Given the description of an element on the screen output the (x, y) to click on. 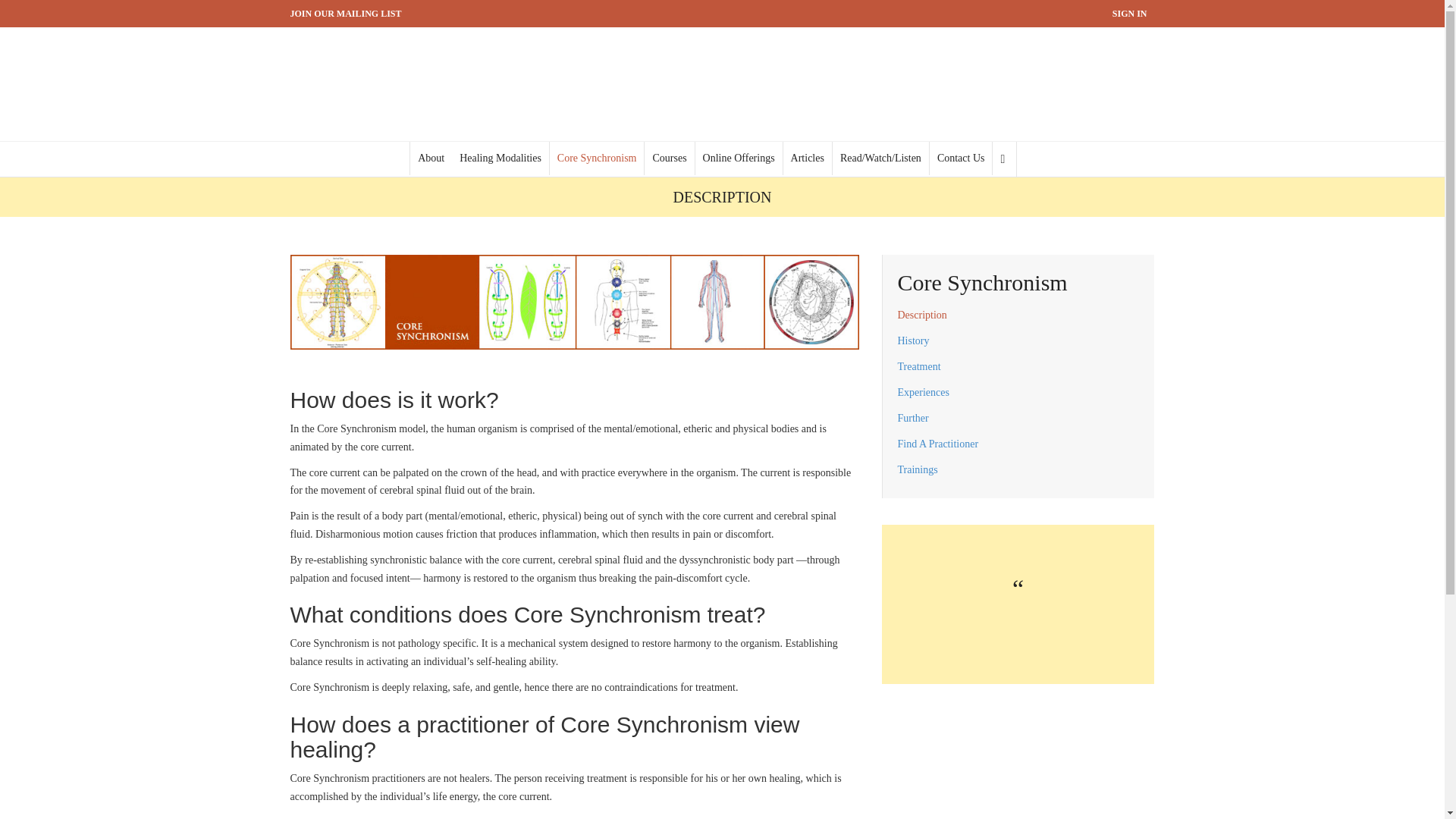
Healing Modalities (499, 158)
JOIN OUR MAILING LIST (345, 13)
SIGN IN (1129, 13)
About (430, 158)
